Given the description of an element on the screen output the (x, y) to click on. 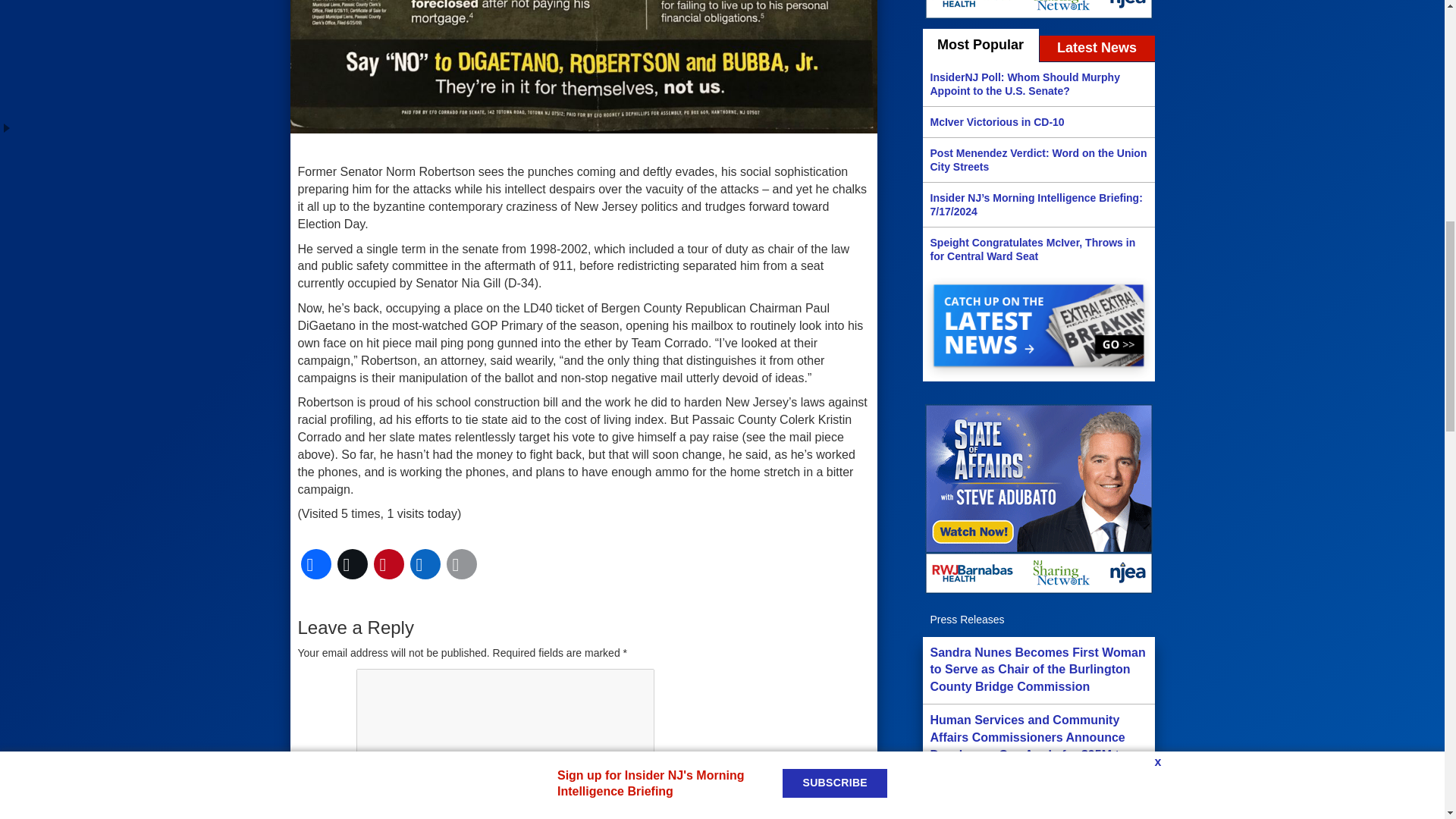
Latest News (1096, 49)
Post Menendez Verdict: Word on the Union City Streets (1037, 159)
Email This (460, 564)
Facebook (315, 564)
Most Popular (979, 45)
McIver Victorious in CD-10 (1037, 121)
Pinterest (387, 564)
LinkedIn (424, 564)
